Given the description of an element on the screen output the (x, y) to click on. 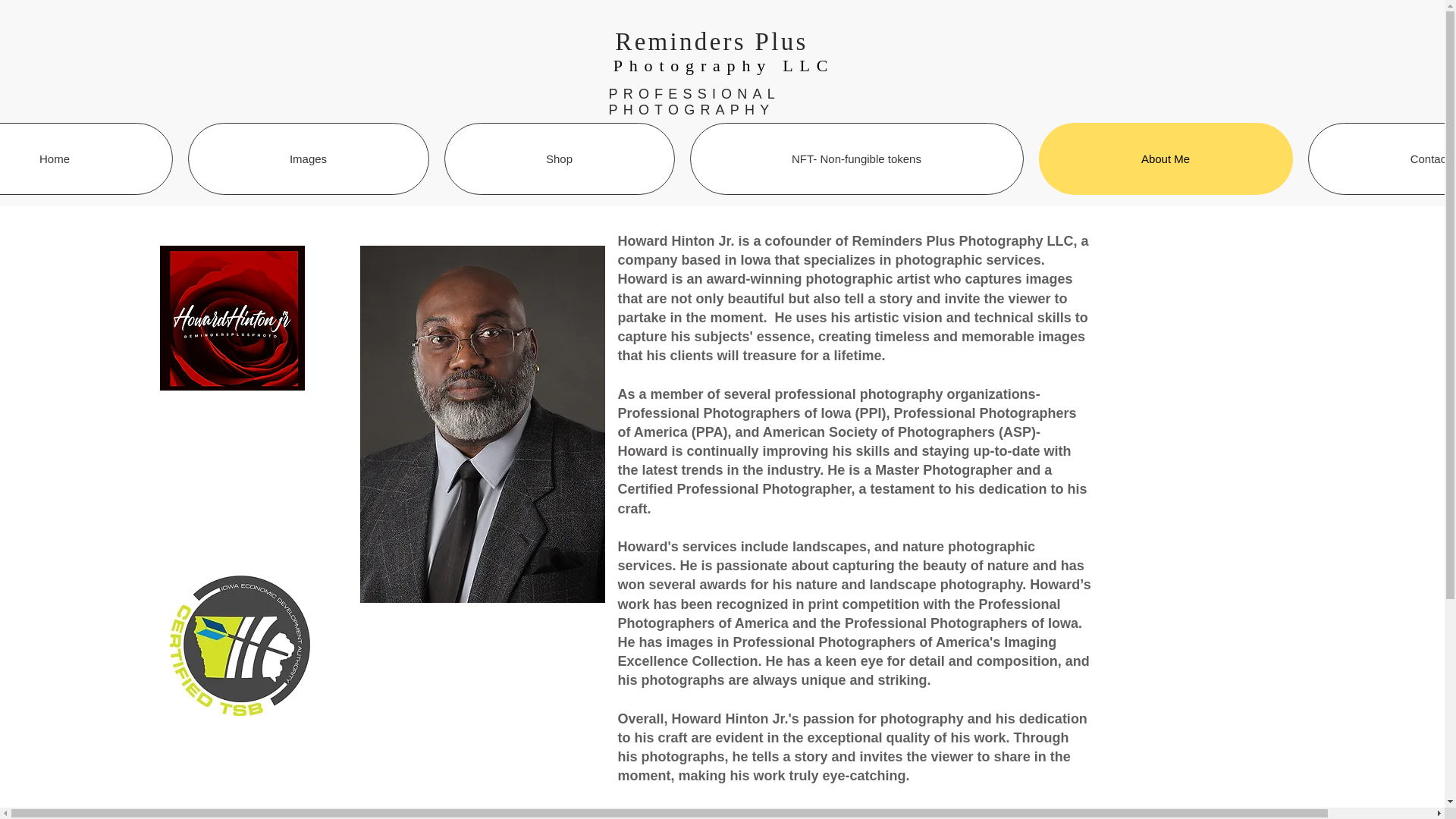
Home (85, 158)
About Me (1165, 158)
Images (308, 158)
Contact (1381, 158)
Photography LLC (723, 65)
Shop (559, 158)
NFT- Non-fungible tokens (856, 158)
Reminders Plus (711, 41)
